Given the description of an element on the screen output the (x, y) to click on. 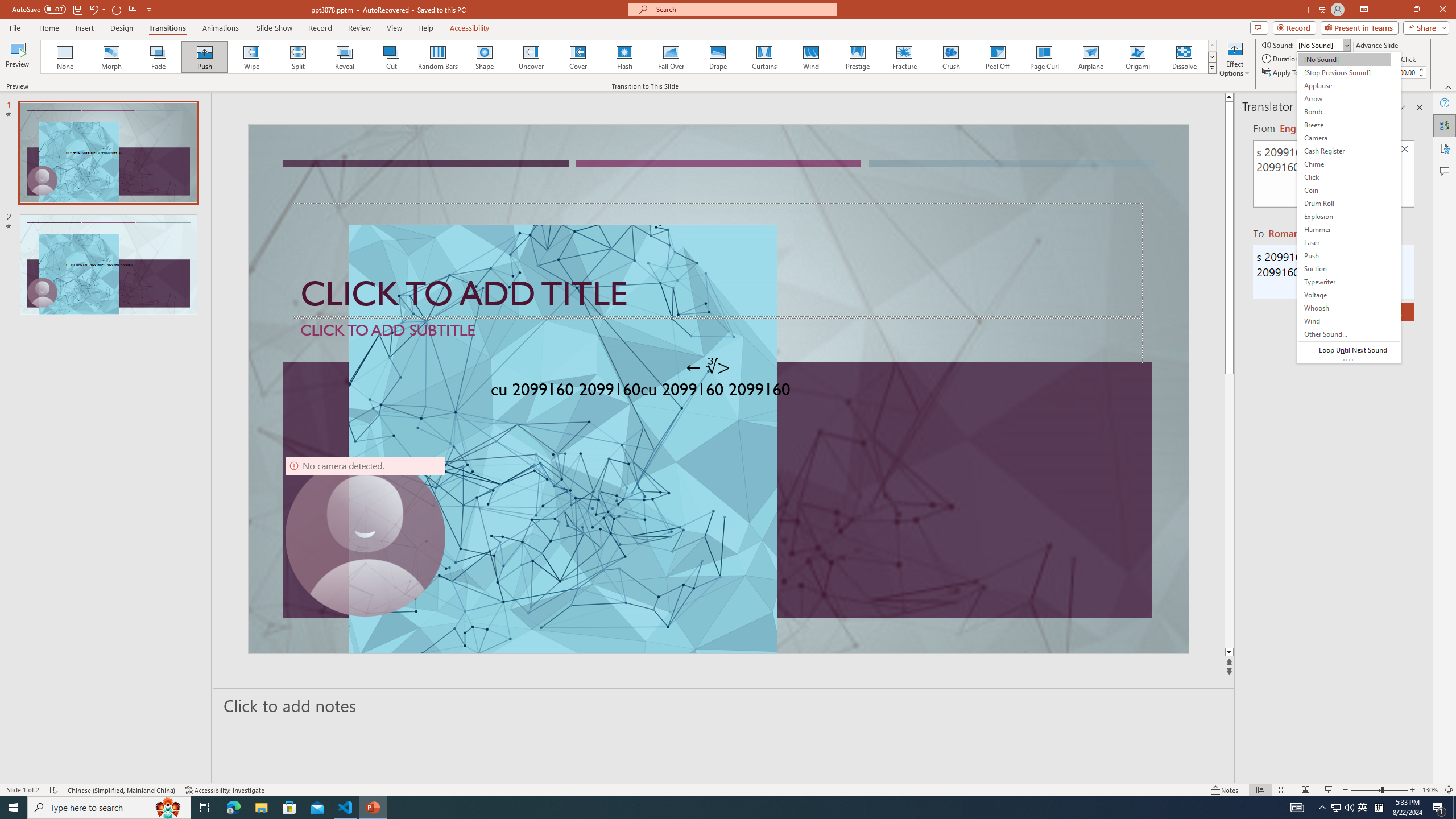
TextBox 61 (716, 391)
Wipe (251, 56)
Page Curl (1043, 56)
